Given the description of an element on the screen output the (x, y) to click on. 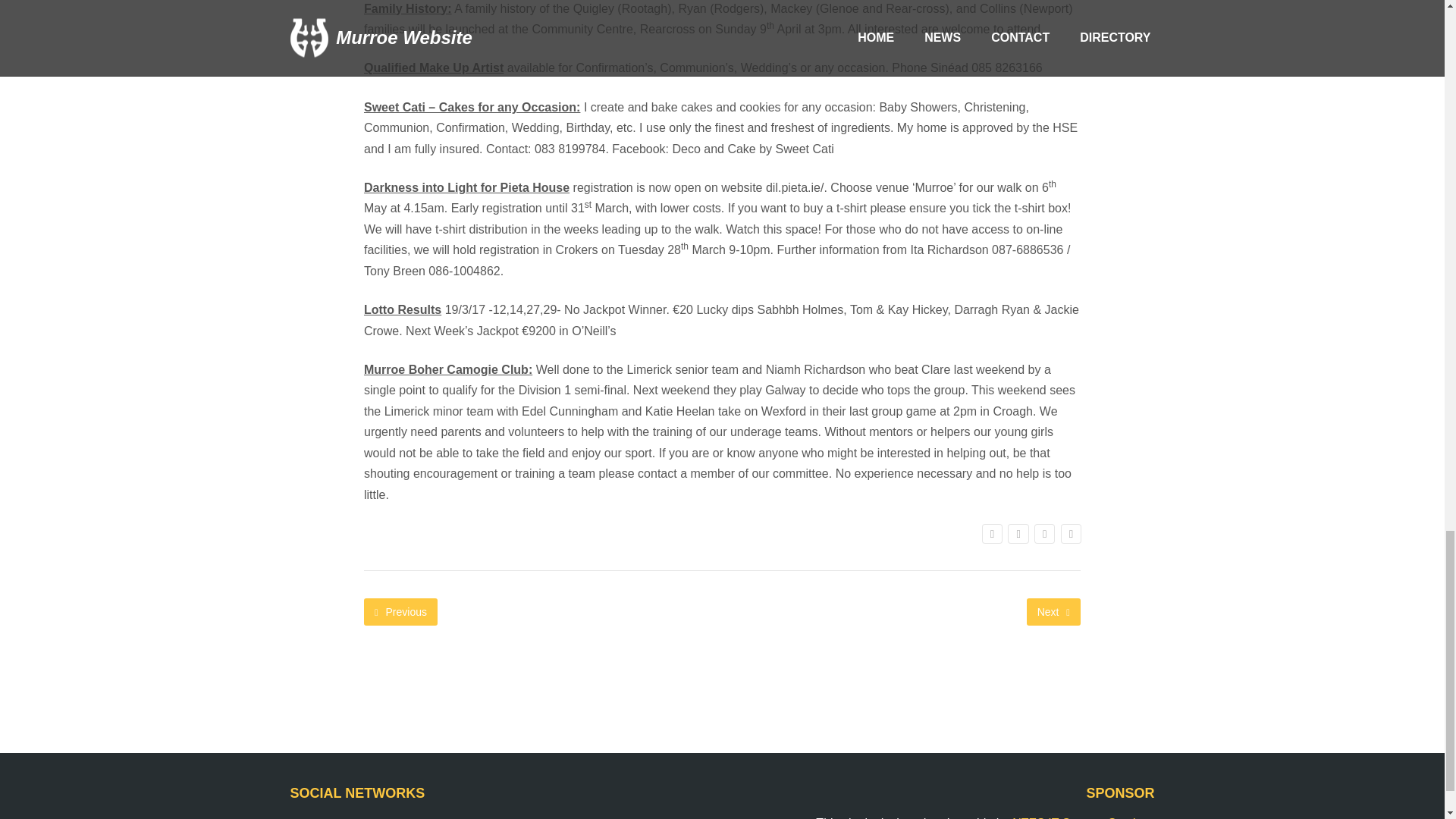
Previous (401, 611)
Next (1053, 611)
NTES IT Support Services (1082, 817)
